Given the description of an element on the screen output the (x, y) to click on. 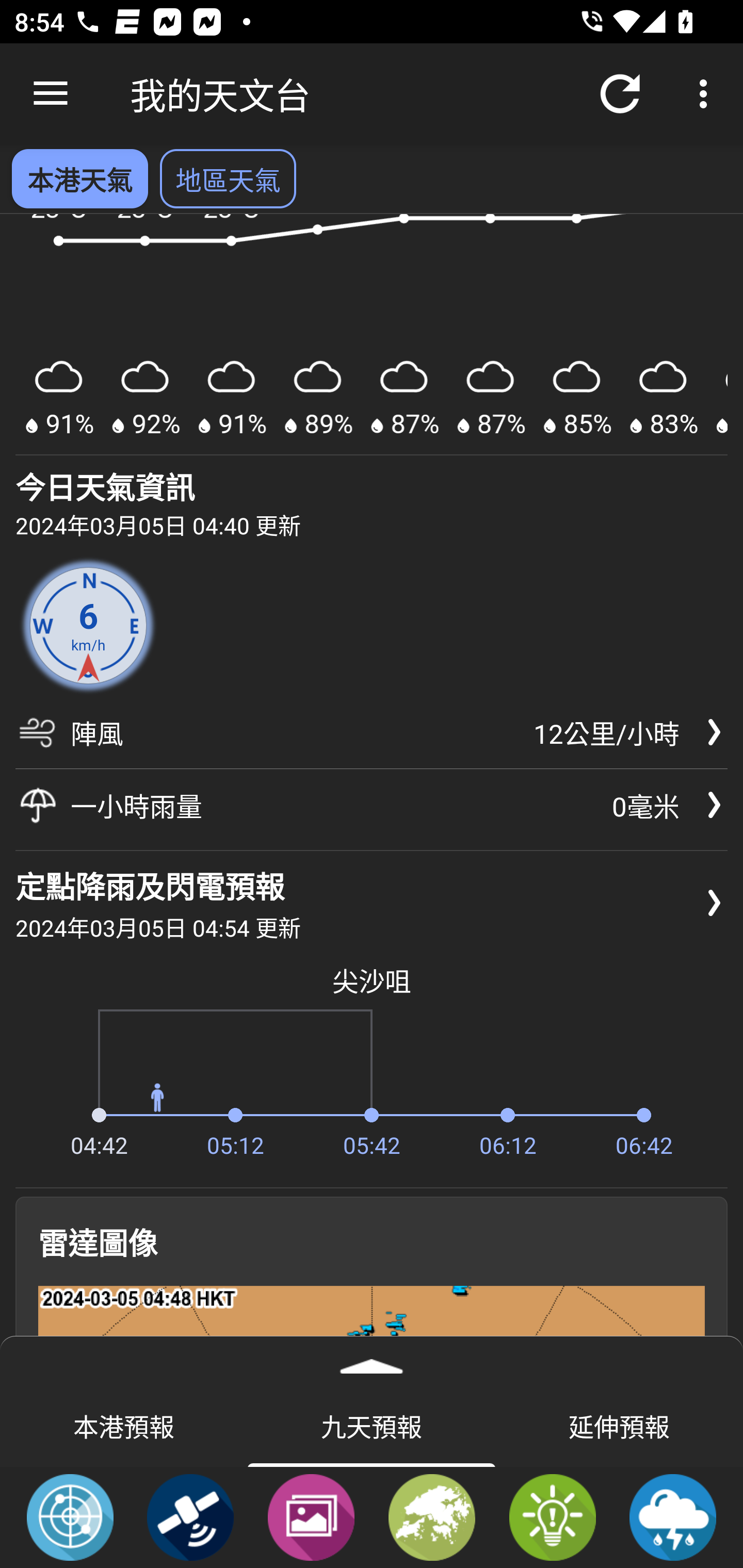
向上瀏覽 (50, 93)
重新整理 (619, 93)
更多選項 (706, 93)
本港天氣 已選擇 本港天氣 (79, 178)
地區天氣 選擇 地區天氣 (227, 178)
九天自動天氣預報 圖片
輕按進入內頁，即可了解詳細資料。 ARWF (371, 334)
風向南
風速每小時6公里 6 km/h (88, 625)
陣風 12公里/小時 陣風 12公里/小時 (371, 739)
一小時雨量 0毫米 一小時雨量 0毫米 (371, 805)
展開 (371, 1358)
本港預報 (123, 1424)
延伸預報 (619, 1424)
雷達圖像 (69, 1516)
衛星圖像 (190, 1516)
天氣照片 (310, 1516)
分區天氣 (431, 1516)
天氣提示 (551, 1516)
定點降雨及閃電預報 (672, 1516)
